Given the description of an element on the screen output the (x, y) to click on. 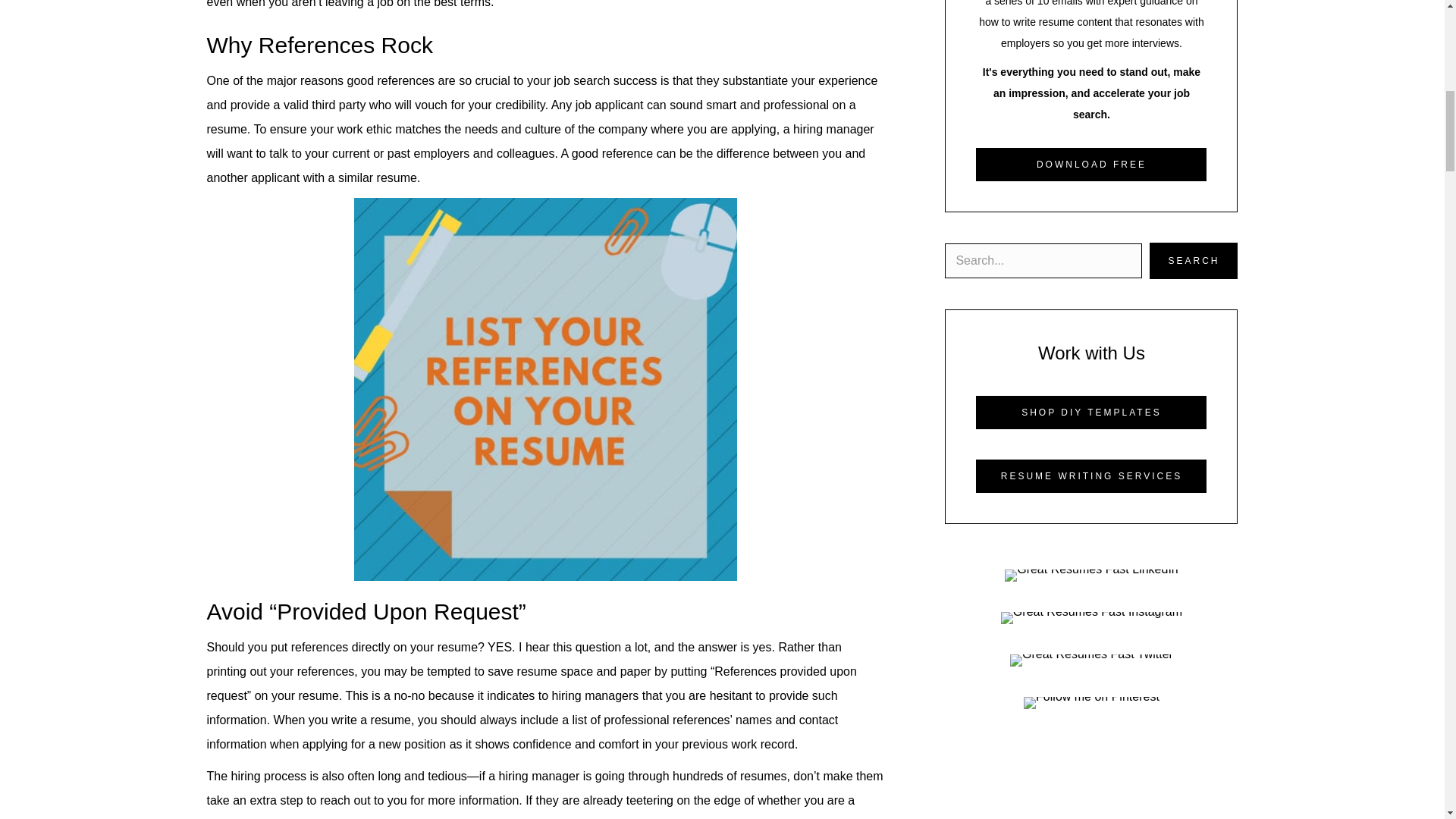
Follow me on Pinterest (1090, 702)
